Given the description of an element on the screen output the (x, y) to click on. 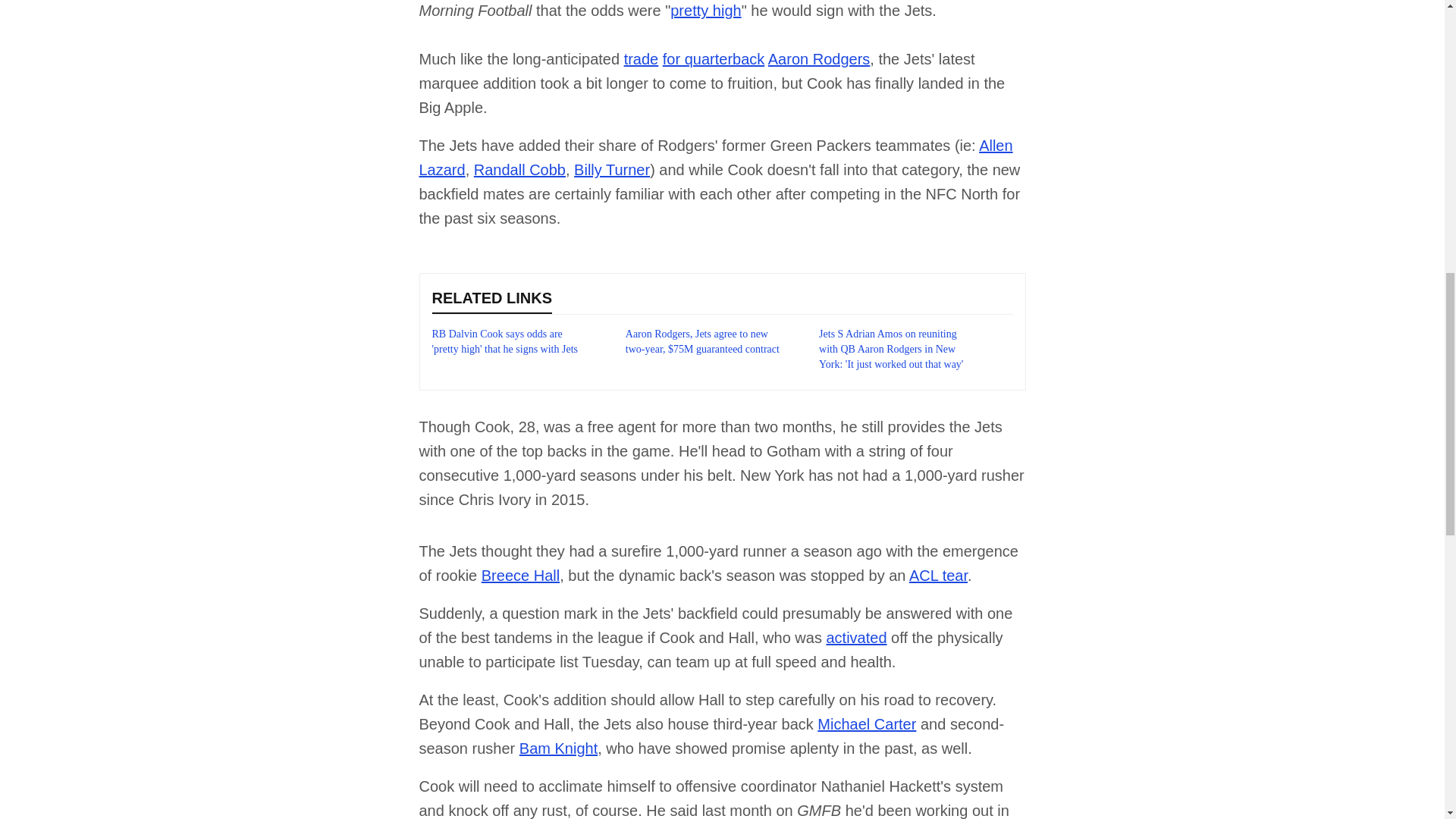
trade (641, 58)
Randall Cobb (520, 169)
Breece Hall (520, 575)
Aaron Rodgers (819, 58)
activated (855, 637)
Allen Lazard (715, 157)
Billy Turner (611, 169)
pretty high (705, 10)
Billy Turner (611, 169)
